Given the description of an element on the screen output the (x, y) to click on. 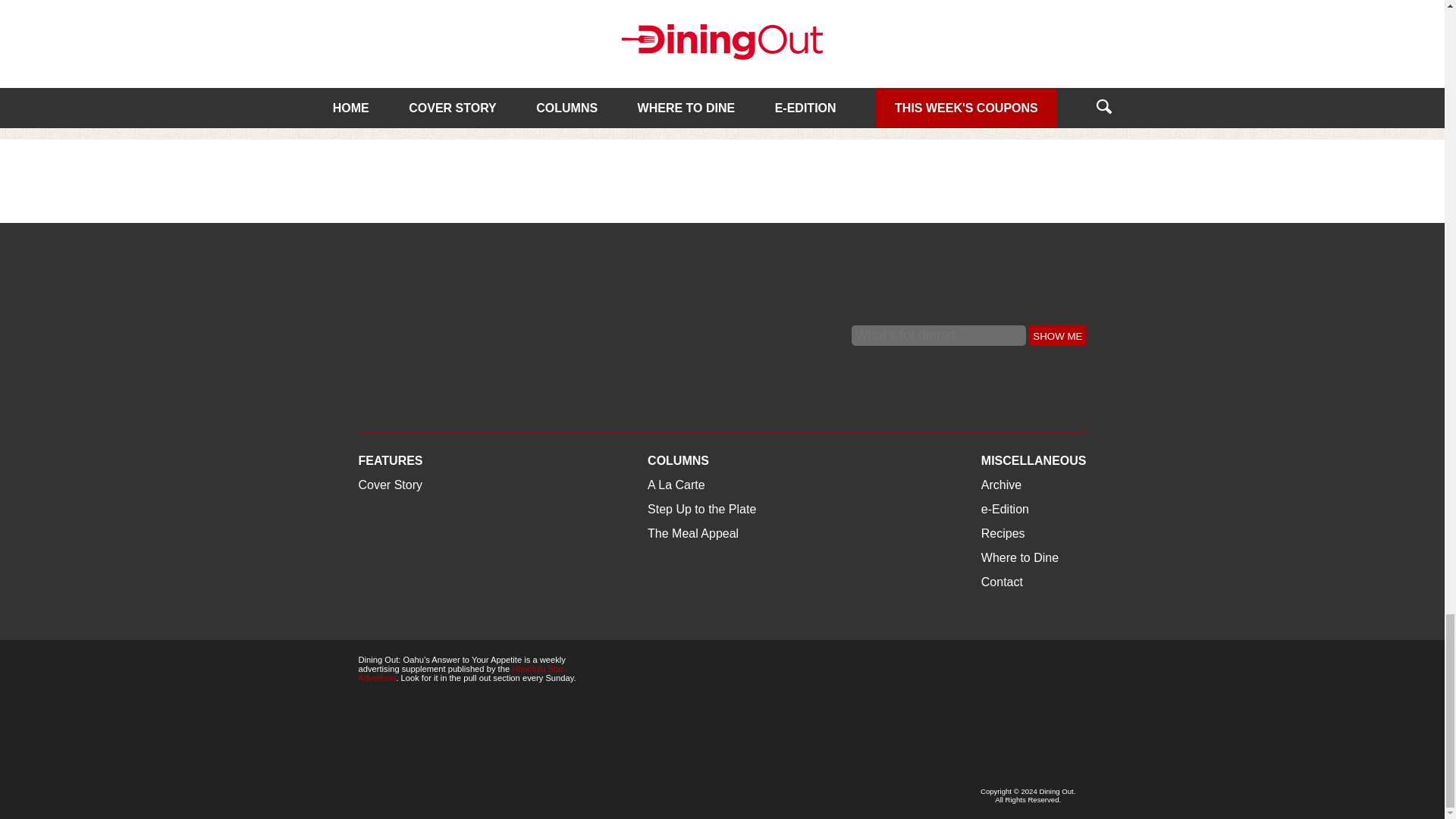
A La Carte (386, 38)
Restaurant offers a choice lunch (452, 73)
A La Carte (640, 38)
A La Carte (386, 38)
Delicious dishes, exceptional service (972, 73)
Savor spectacular dry-aged steak (722, 24)
Restaurant offers a choice lunch (452, 73)
Restaurant offers a choice lunch (468, 24)
Cover Story (898, 38)
Savor spectacular dry-aged steak (711, 73)
A La Carte (640, 38)
Savor spectacular dry-aged steak (711, 73)
